Given the description of an element on the screen output the (x, y) to click on. 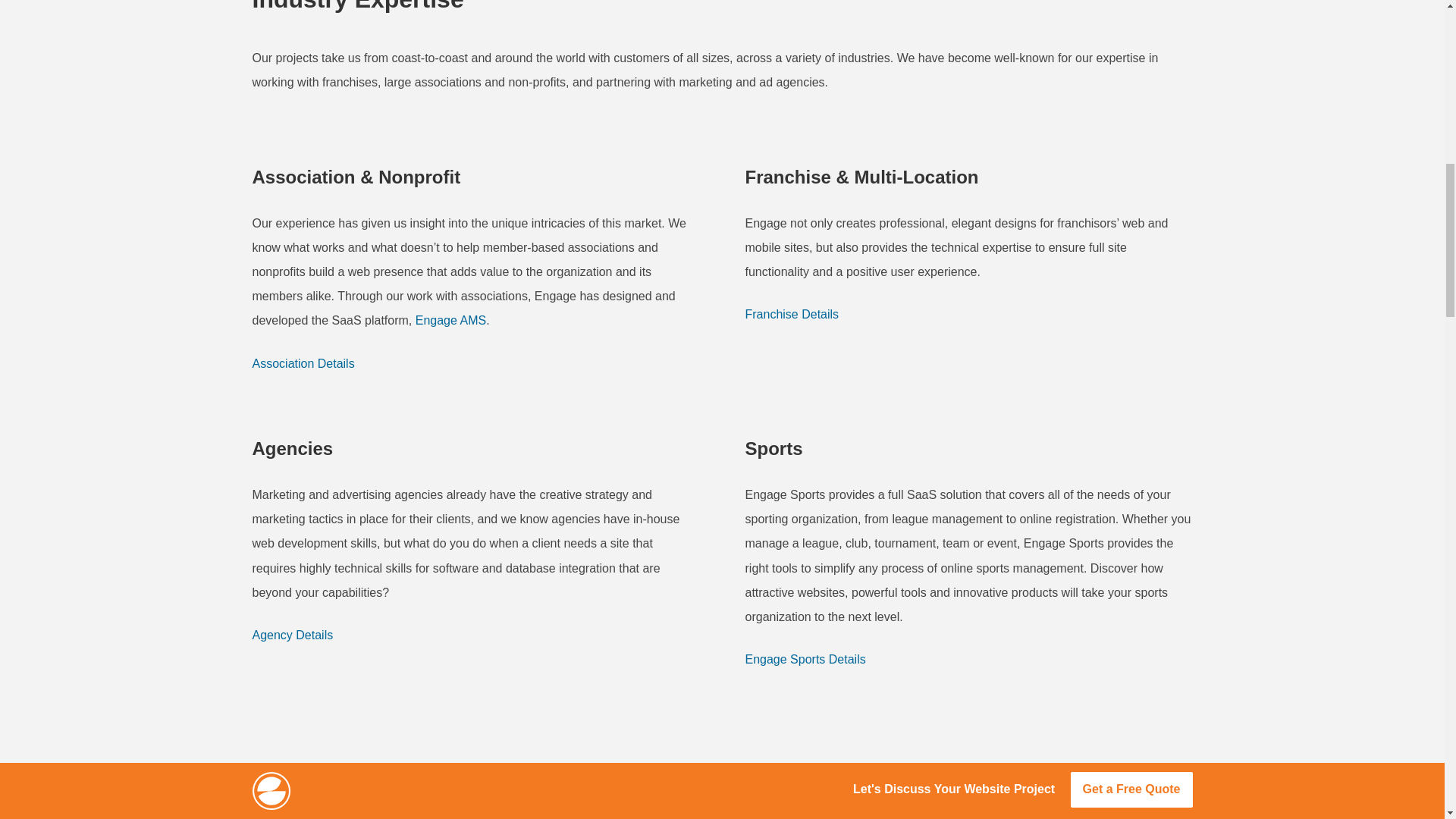
Engage Sports Details (804, 659)
Franchise Details (791, 314)
Agency Details (292, 635)
Engage AMS (450, 319)
Association Details (302, 363)
